Given the description of an element on the screen output the (x, y) to click on. 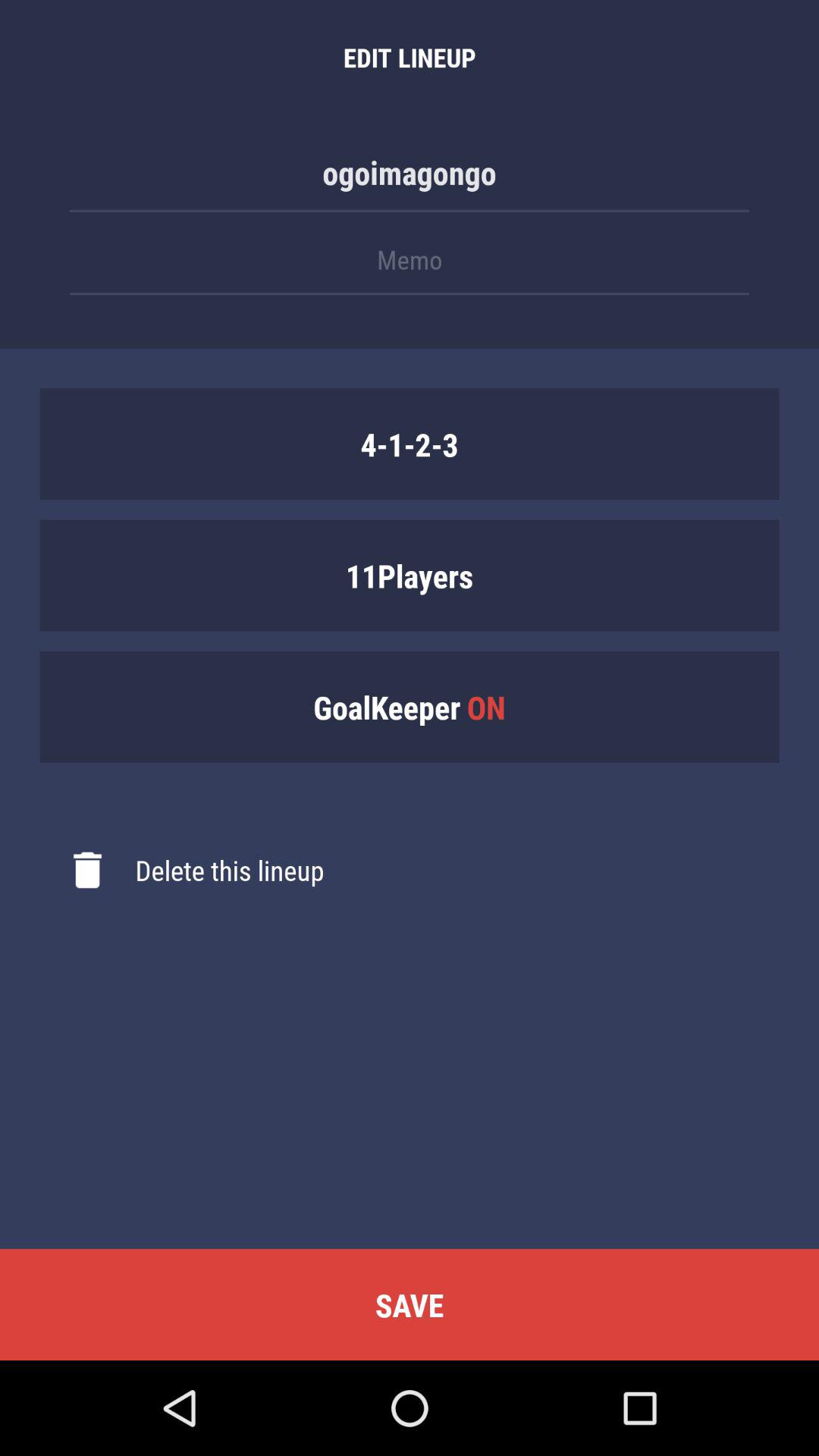
flip to save item (409, 1304)
